Given the description of an element on the screen output the (x, y) to click on. 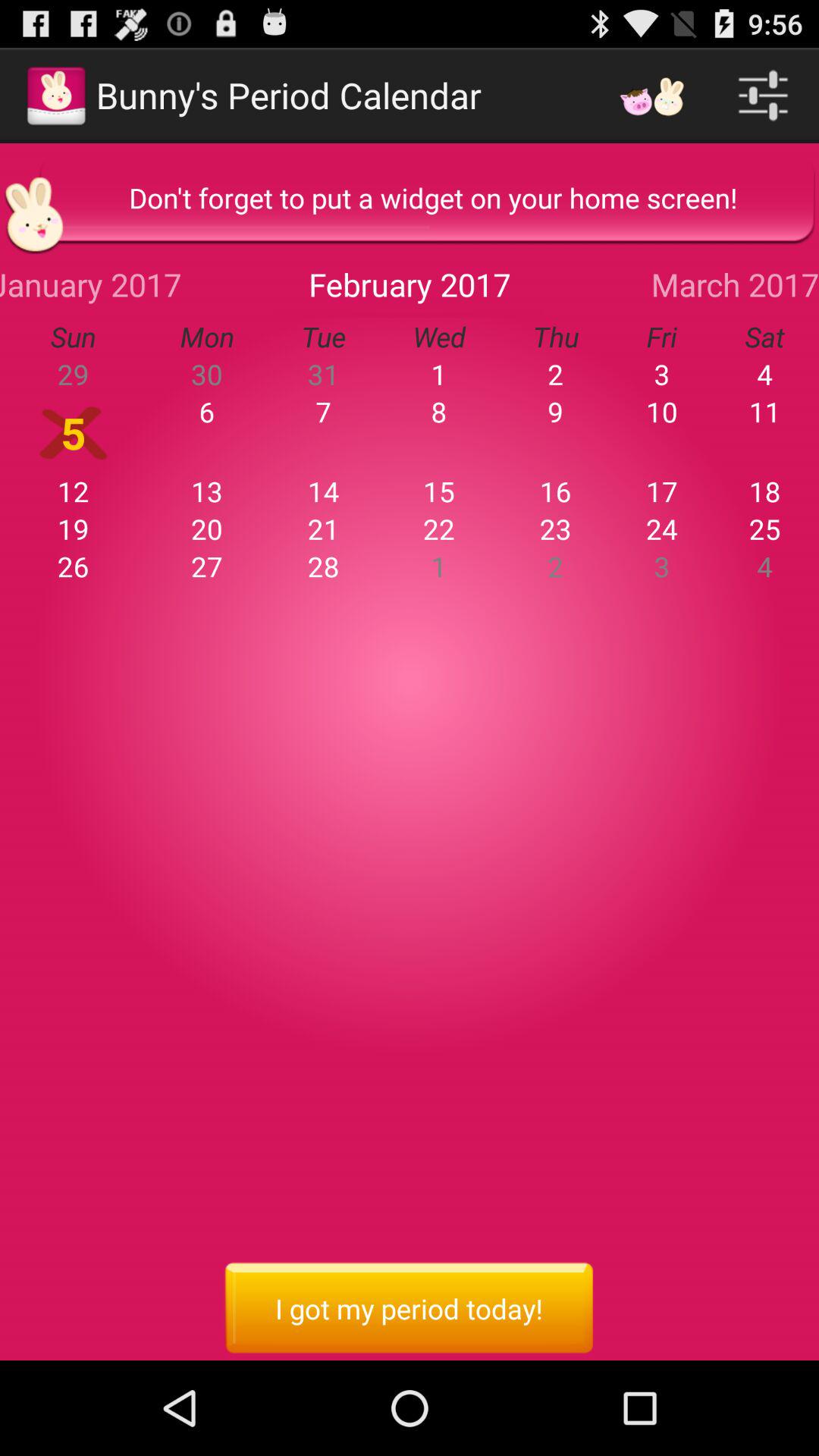
flip to 9 item (555, 411)
